Given the description of an element on the screen output the (x, y) to click on. 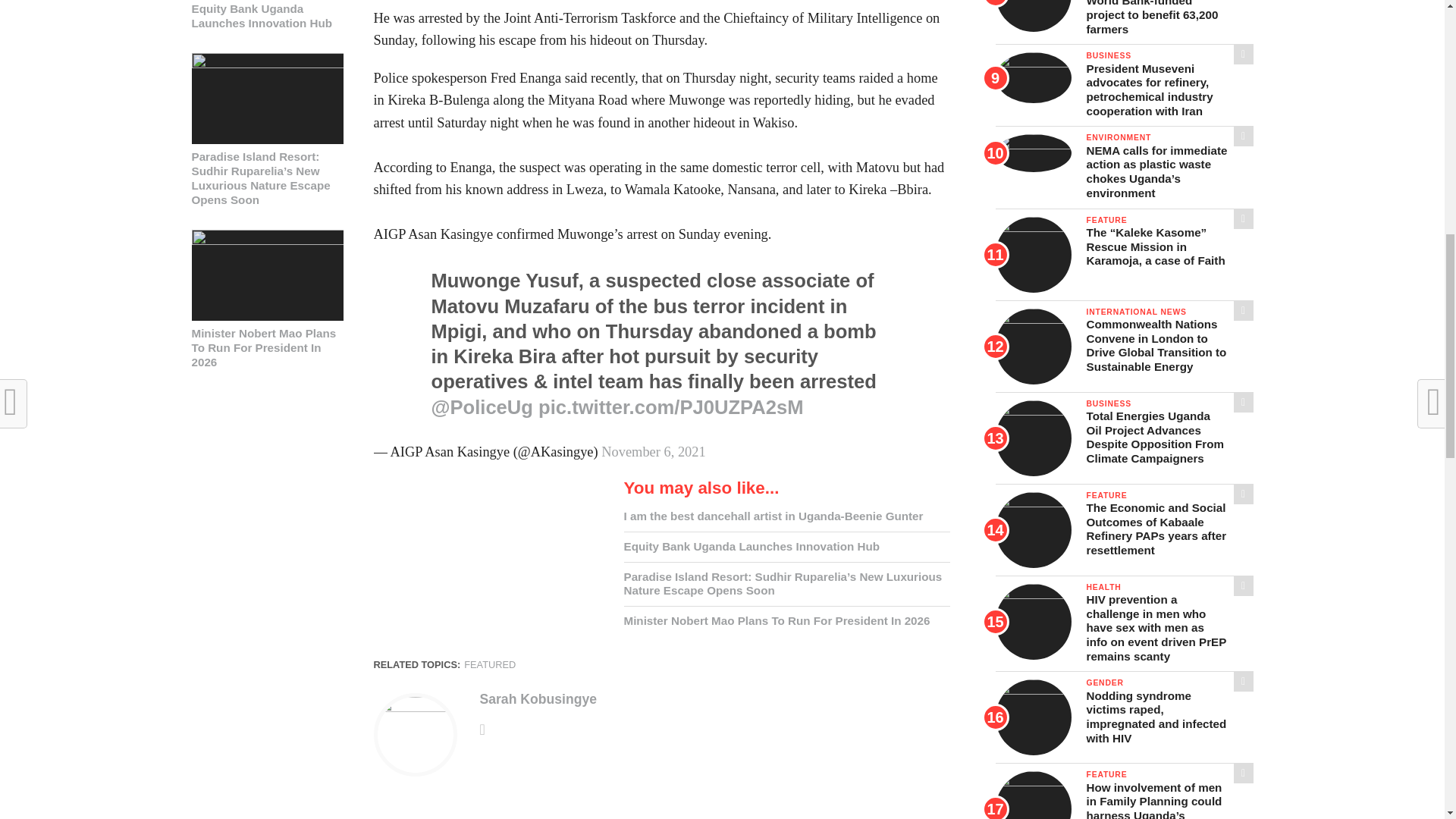
Minister Nobert Mao Plans To Run For President In 2026 (266, 240)
Equity Bank Uganda Launches Innovation Hub (266, 16)
Posts by Sarah Kobusingye (537, 698)
